Given the description of an element on the screen output the (x, y) to click on. 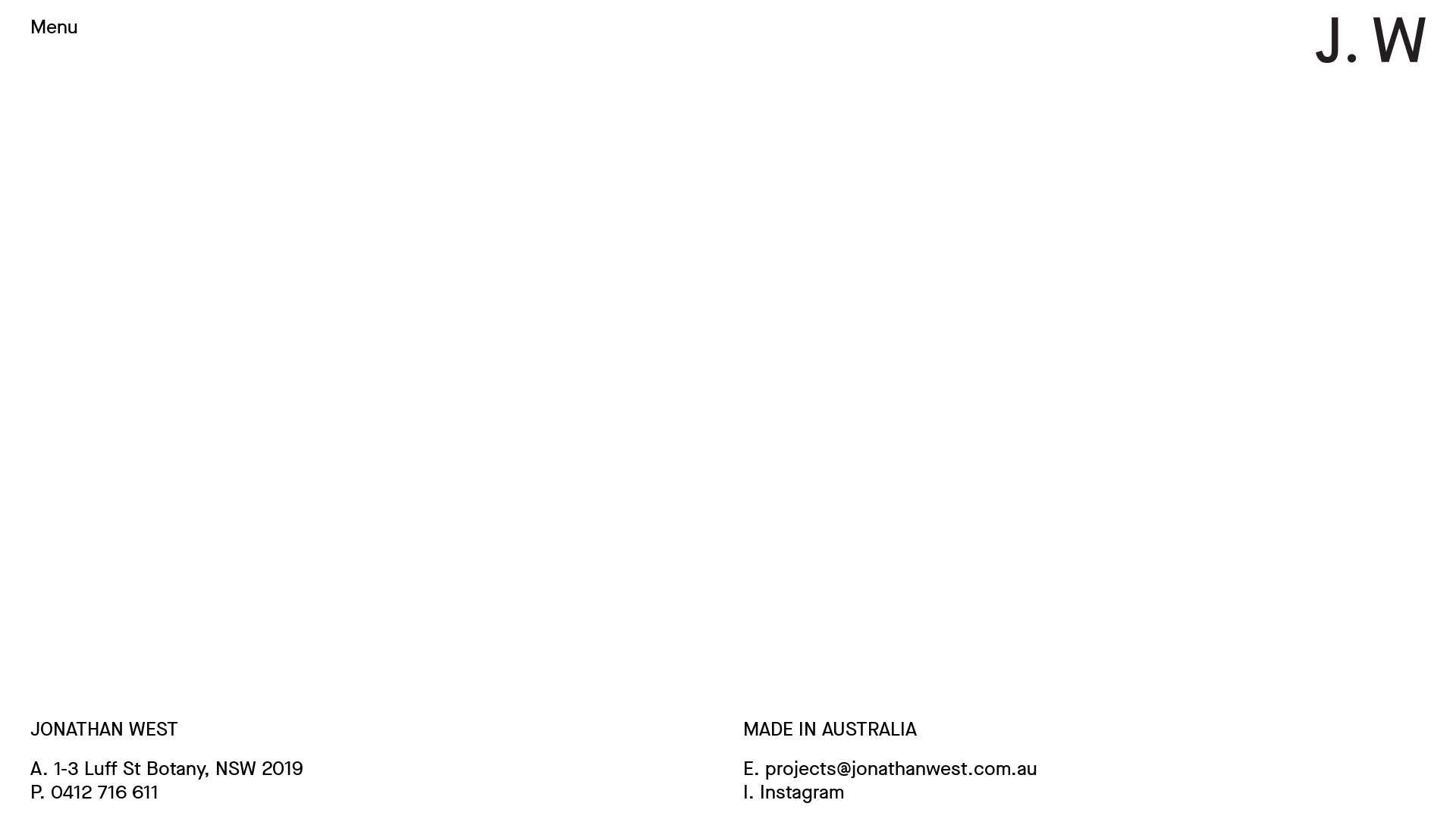
E. projects@jonathanwest.com.au Element type: text (890, 767)
I. Instagram Element type: text (793, 791)
Menu Element type: text (57, 26)
A. 1-3 Luff St Botany, NSW 2019 Element type: text (166, 767)
P. 0412 716 611 Element type: text (94, 791)
